Given the description of an element on the screen output the (x, y) to click on. 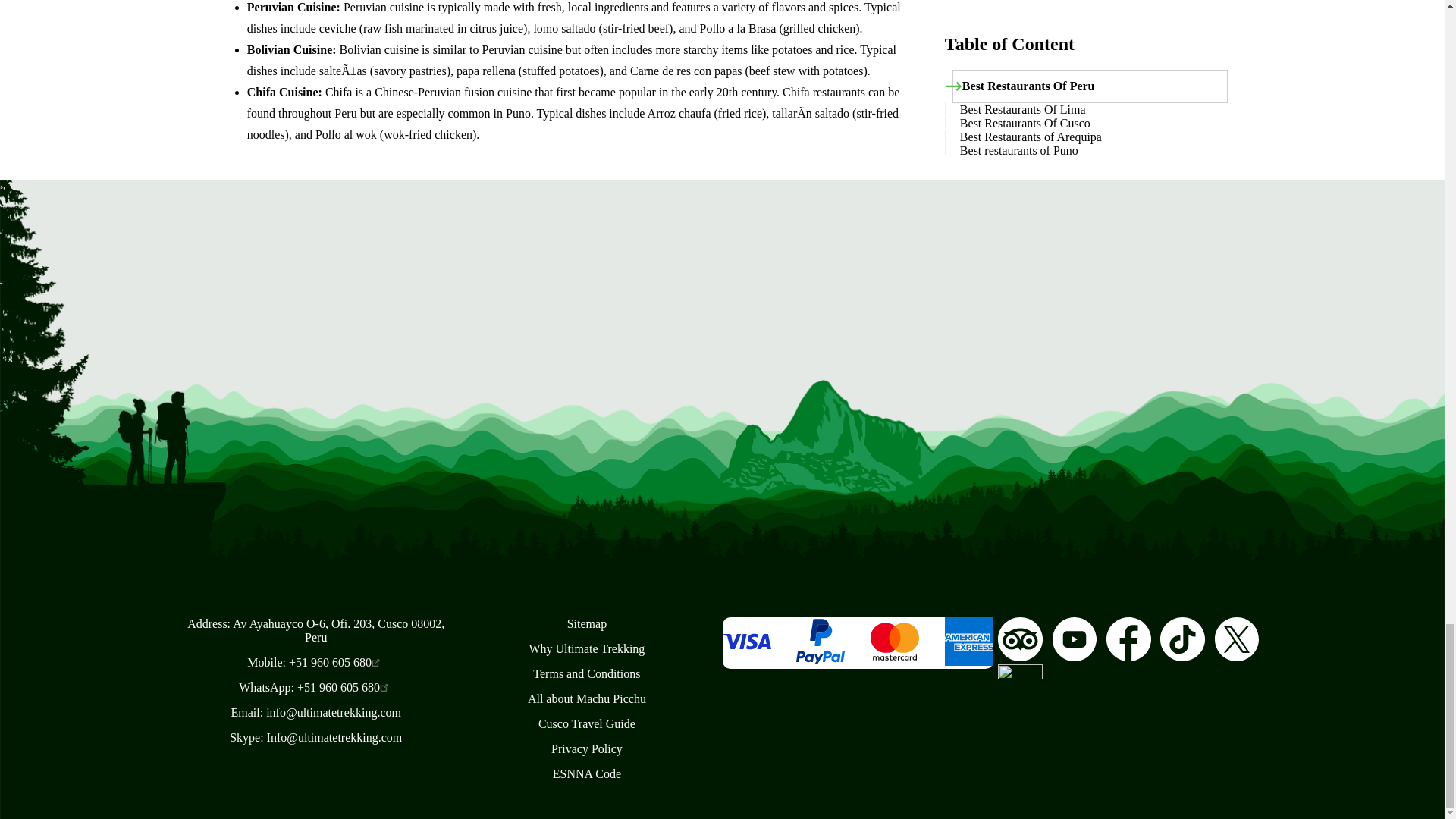
Enter the blog all about Machu Picchu (586, 698)
